Given the description of an element on the screen output the (x, y) to click on. 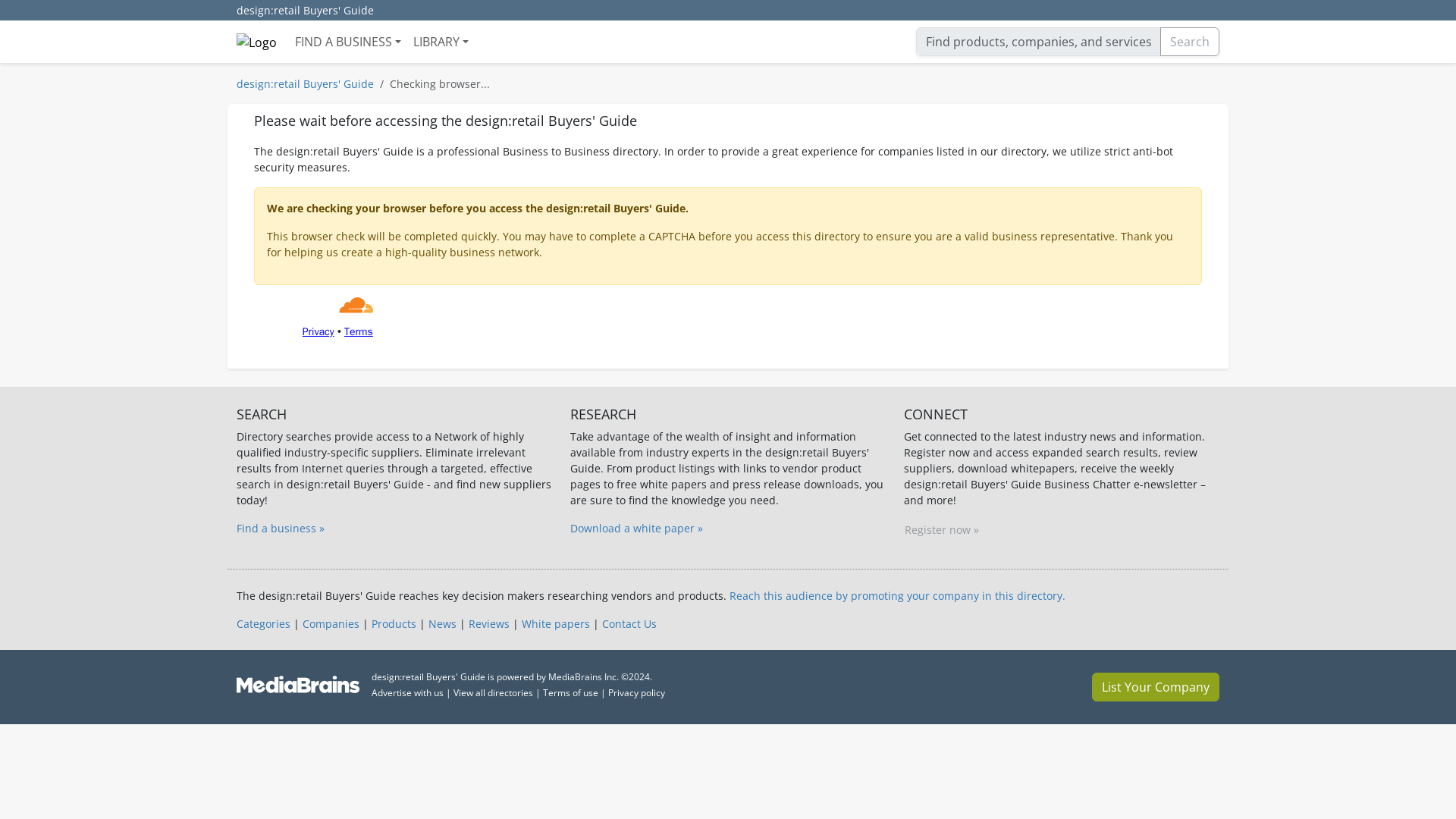
Terms of use (570, 692)
Companies (330, 623)
design:retail Buyers' Guide (304, 10)
Products (393, 623)
Privacy policy (636, 692)
FIND A BUSINESS (347, 41)
Categories (262, 623)
Search (1190, 41)
Reviews (488, 623)
Contact Us (629, 623)
